Given the description of an element on the screen output the (x, y) to click on. 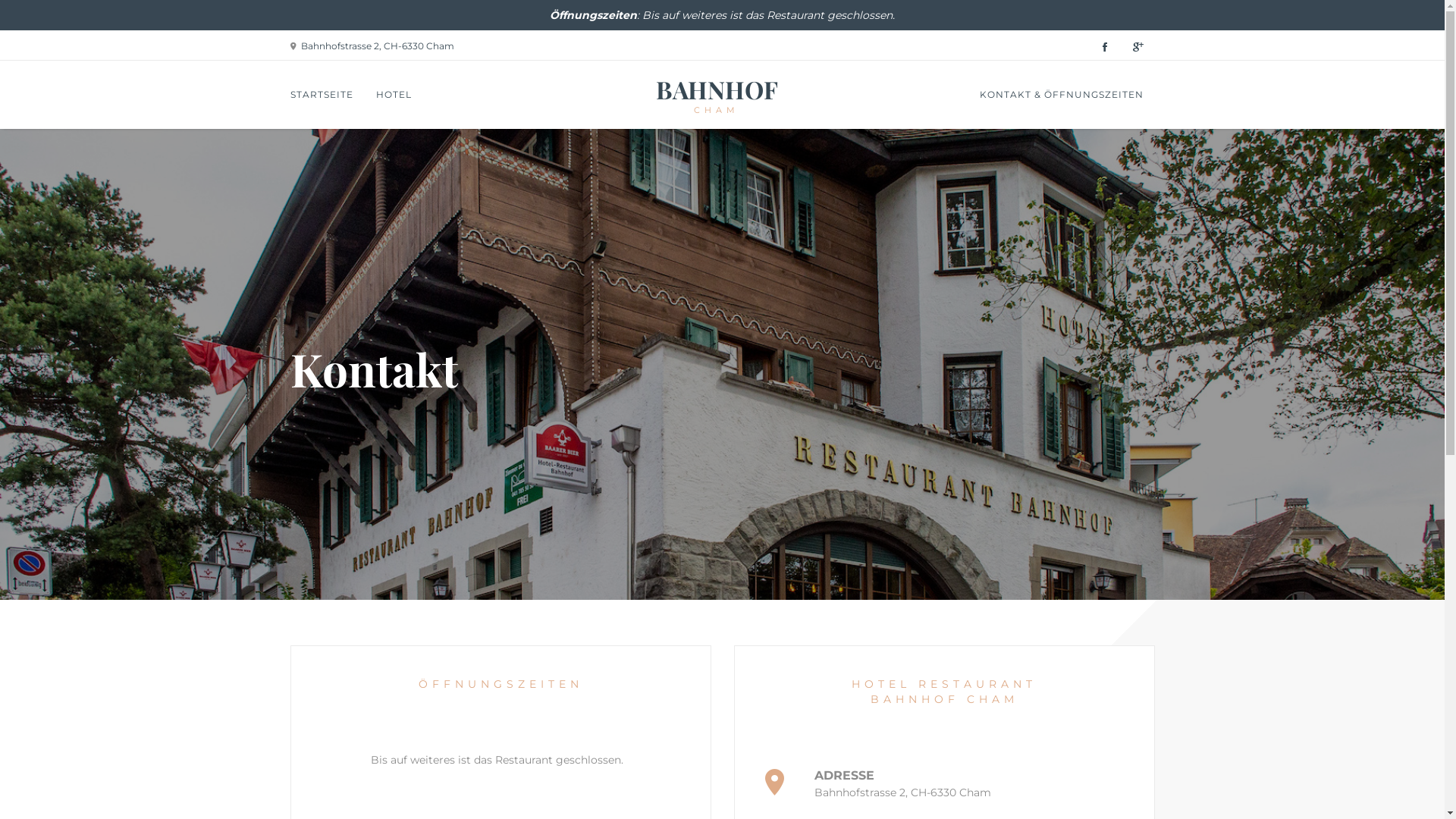
STARTSEITE Element type: text (321, 94)
Bahnhofstrasse 2, CH-6330 Cham Element type: text (376, 45)
BAHNHOF
CHAM Element type: text (716, 94)
Google Plus | Hotel Restaurant Bahnhof Cham Element type: hover (1137, 47)
HOTEL Element type: text (393, 94)
